Given the description of an element on the screen output the (x, y) to click on. 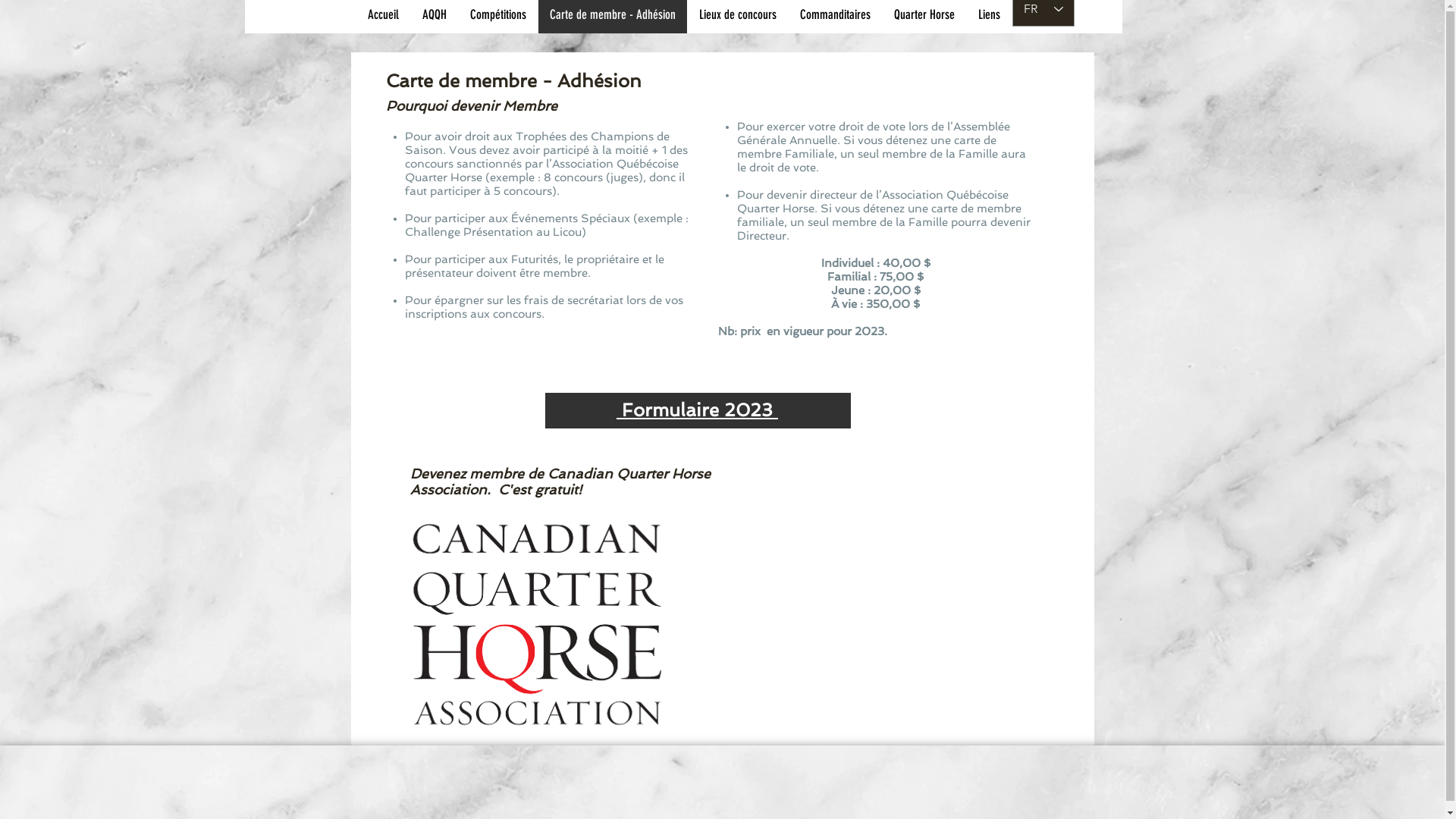
 Formulaire 2023  Element type: text (697, 409)
